Given the description of an element on the screen output the (x, y) to click on. 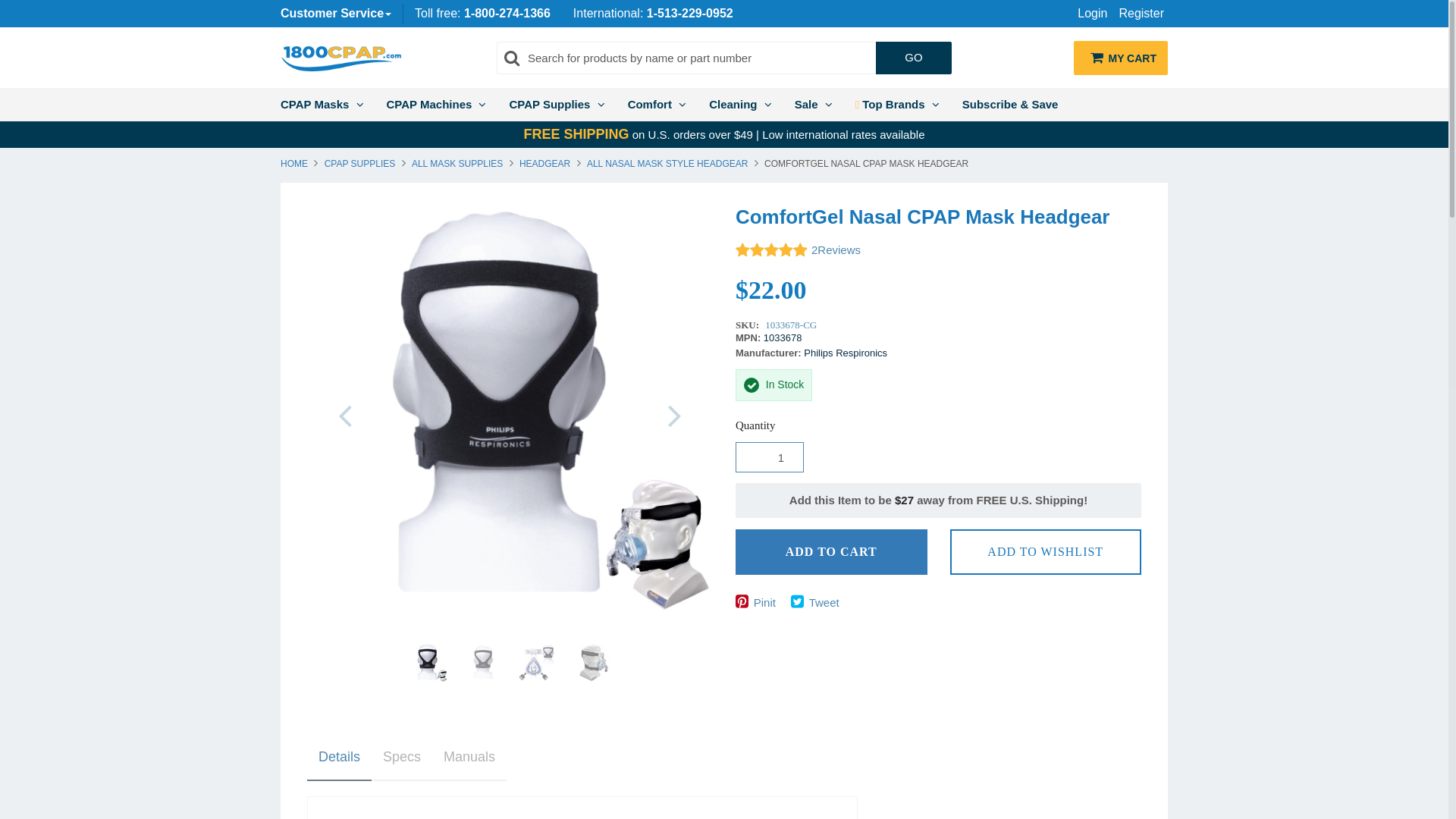
Pinit Element type: text (759, 602)
Comfort Element type: text (657, 103)
Cleaning Element type: text (740, 103)
Manuals Element type: text (469, 757)
Subscribe & Save Element type: text (1010, 103)
ALL NASAL MASK STYLE HEADGEAR Element type: text (667, 163)
International: 1-513-229-0952 Element type: text (652, 13)
Tweet Element type: text (818, 602)
Sale Element type: text (813, 103)
MY CART Element type: text (1120, 57)
CPAP Masks Element type: text (322, 103)
Specs Element type: text (401, 757)
HOME Element type: text (295, 163)
Customer Service Element type: text (335, 13)
CPAP Machines Element type: text (435, 103)
ALL MASK SUPPLIES Element type: text (457, 163)
HEADGEAR Element type: text (545, 163)
Register Element type: text (1135, 13)
Toll free: 1-800-274-1366 Element type: text (482, 13)
GO Element type: text (913, 57)
ADD TO WISHLIST Element type: text (1045, 551)
Login Element type: text (1086, 13)
CPAP SUPPLIES Element type: text (359, 163)
Details Element type: text (339, 757)
ADD TO CART Element type: text (831, 551)
CPAP Supplies Element type: text (556, 103)
